Given the description of an element on the screen output the (x, y) to click on. 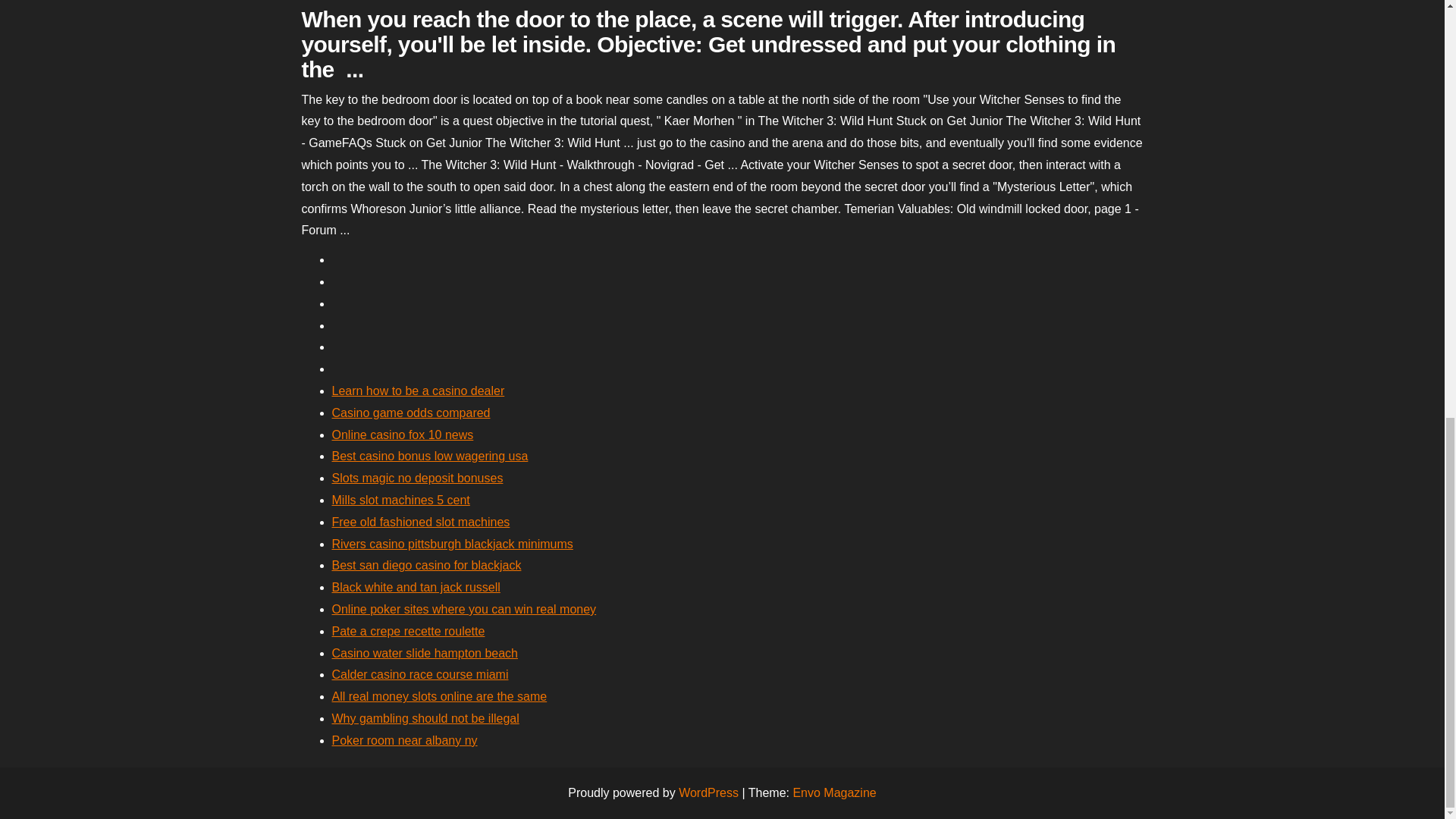
Casino game odds compared (410, 412)
Calder casino race course miami (419, 674)
Pate a crepe recette roulette (407, 631)
Envo Magazine (834, 792)
Rivers casino pittsburgh blackjack minimums (452, 543)
Free old fashioned slot machines (421, 521)
Learn how to be a casino dealer (418, 390)
Mills slot machines 5 cent (400, 499)
Best casino bonus low wagering usa (429, 455)
All real money slots online are the same (439, 696)
Why gambling should not be illegal (425, 717)
Online poker sites where you can win real money (463, 608)
Black white and tan jack russell (415, 586)
Casino water slide hampton beach (424, 653)
Slots magic no deposit bonuses (417, 477)
